Given the description of an element on the screen output the (x, y) to click on. 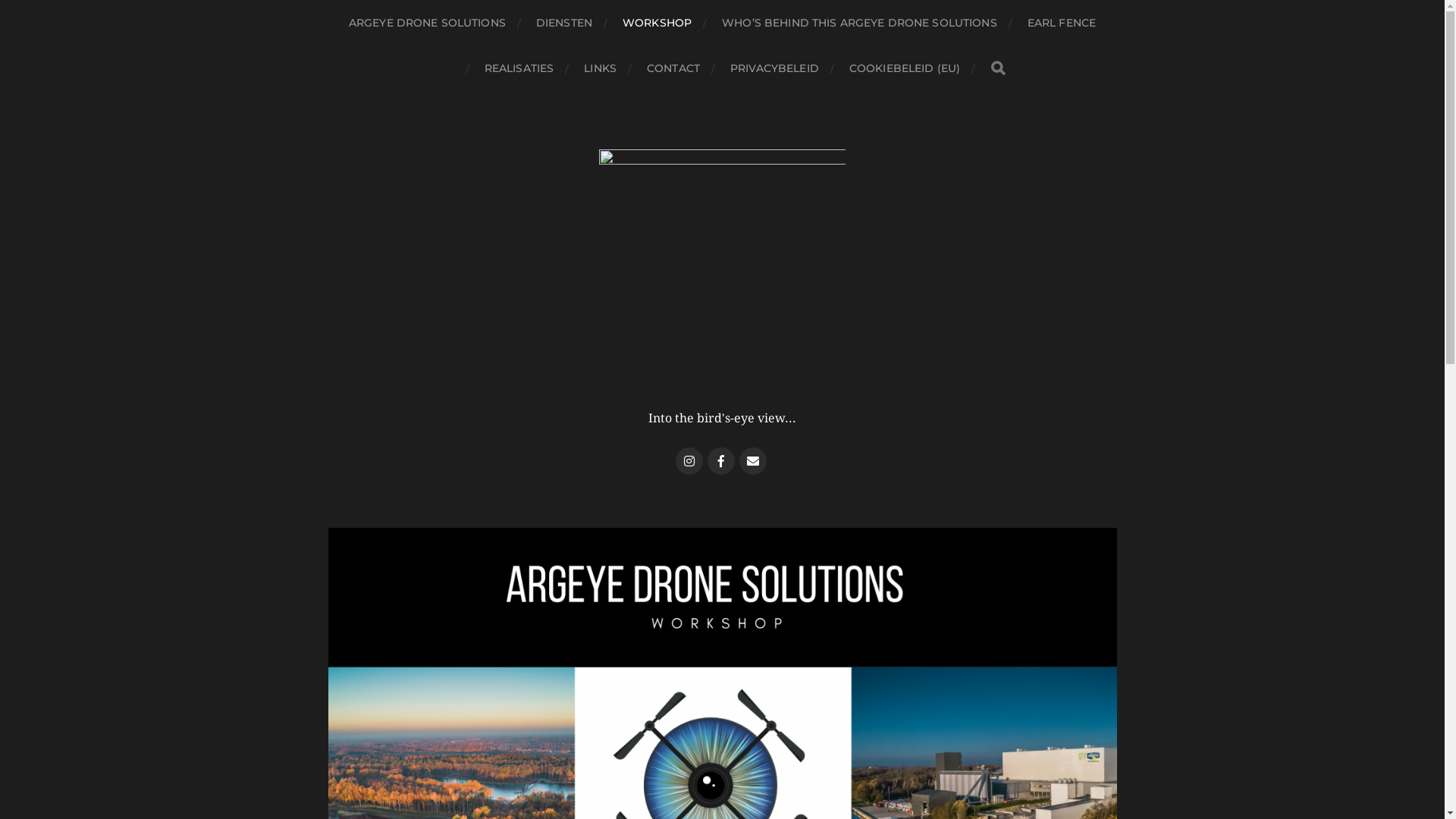
LINKS Element type: text (599, 68)
ARGEYE DRONE SOLUTIONS Element type: text (426, 22)
CONTACT Element type: text (672, 68)
EARL FENCE Element type: text (1061, 22)
PRIVACYBELEID Element type: text (774, 68)
REALISATIES Element type: text (519, 68)
WORKSHOP Element type: text (656, 22)
COOKIEBELEID (EU) Element type: text (904, 68)
DIENSTEN Element type: text (564, 22)
